Given the description of an element on the screen output the (x, y) to click on. 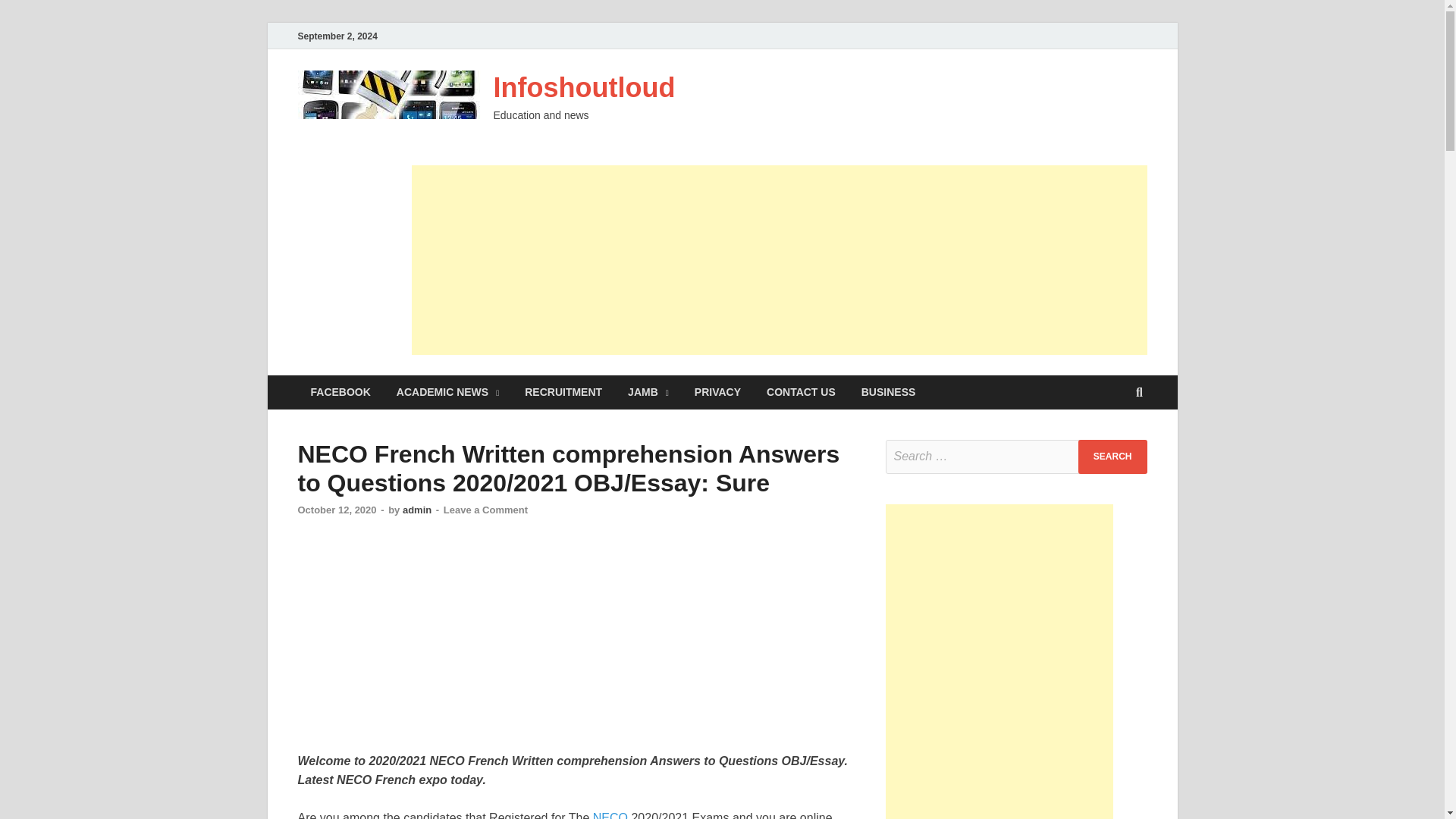
NECO (609, 815)
October 12, 2020 (336, 509)
admin (416, 509)
Infoshoutloud (584, 87)
JAMB (647, 392)
Leave a Comment (485, 509)
ACADEMIC NEWS (448, 392)
RECRUITMENT (563, 392)
FACEBOOK (339, 392)
